Given the description of an element on the screen output the (x, y) to click on. 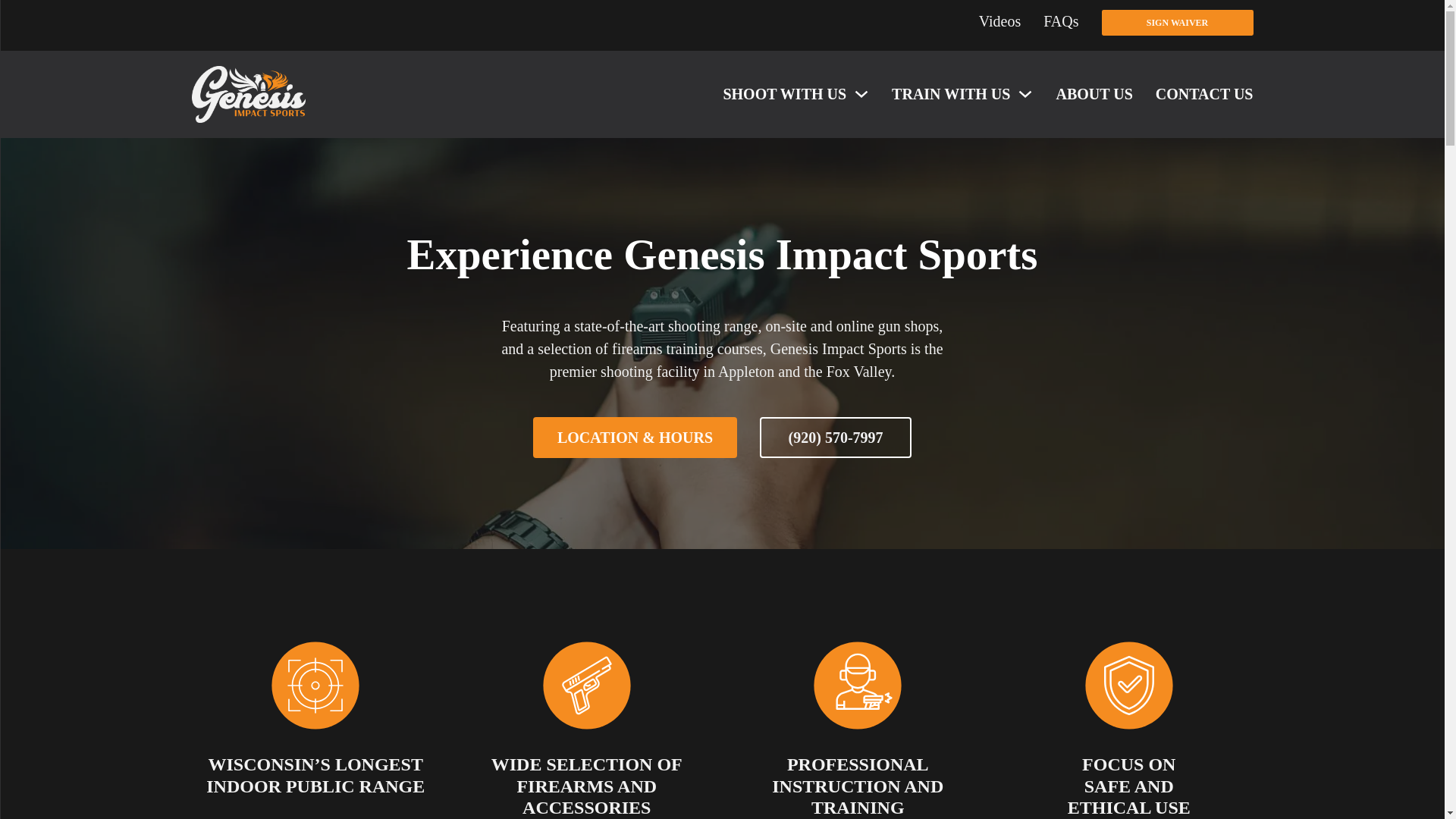
ABOUT US (1093, 93)
TRAIN WITH US (950, 93)
CONTACT US (1204, 93)
Videos (999, 22)
SIGN WAIVER (1176, 22)
SHOOT WITH US (783, 93)
FAQs (1060, 22)
